Given the description of an element on the screen output the (x, y) to click on. 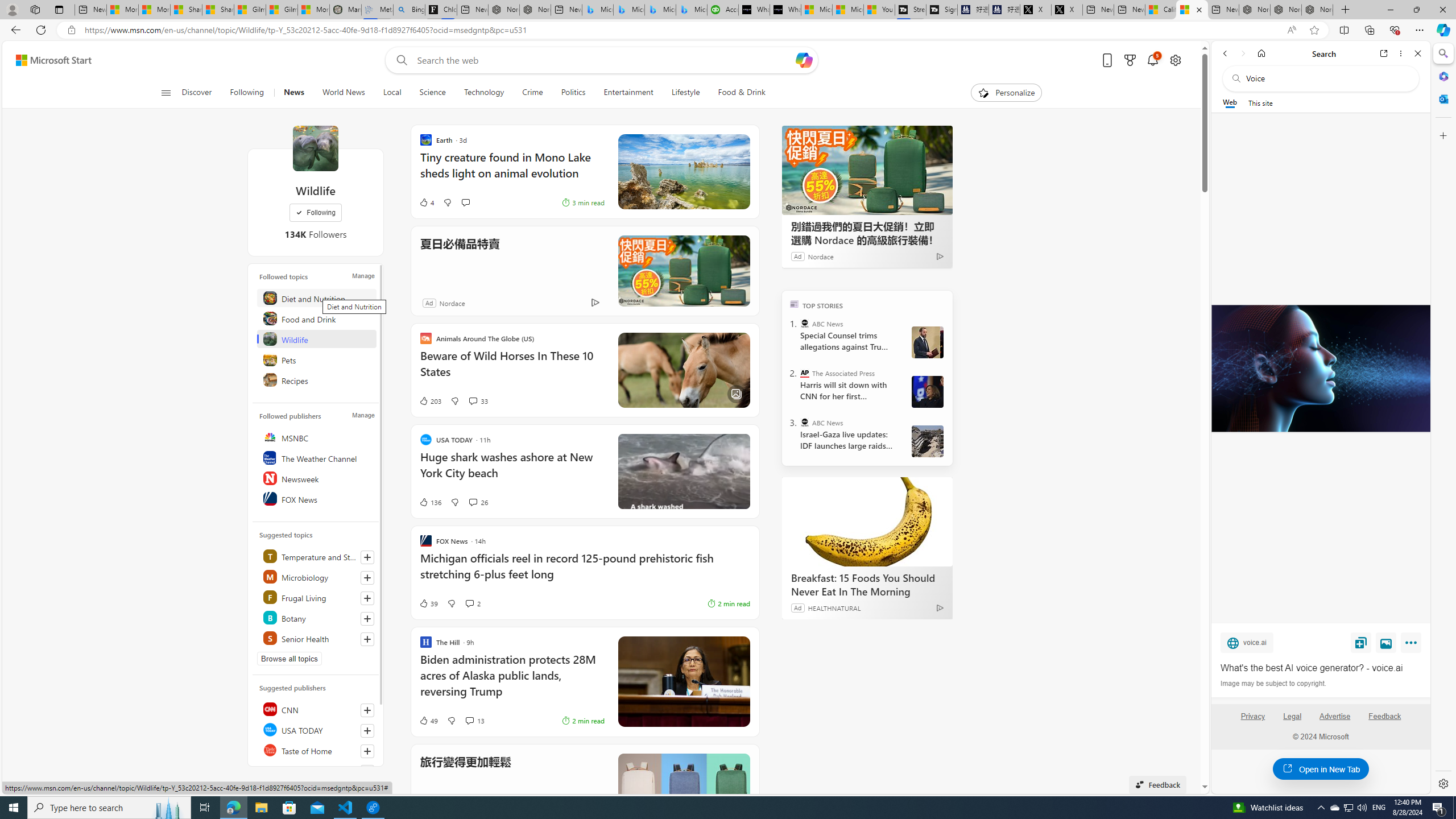
The Associated Press (804, 372)
136 Like (429, 502)
Manage (362, 415)
Bing Real Estate - Home sales and rental listings (408, 9)
Crime (532, 92)
View image (1385, 642)
